Given the description of an element on the screen output the (x, y) to click on. 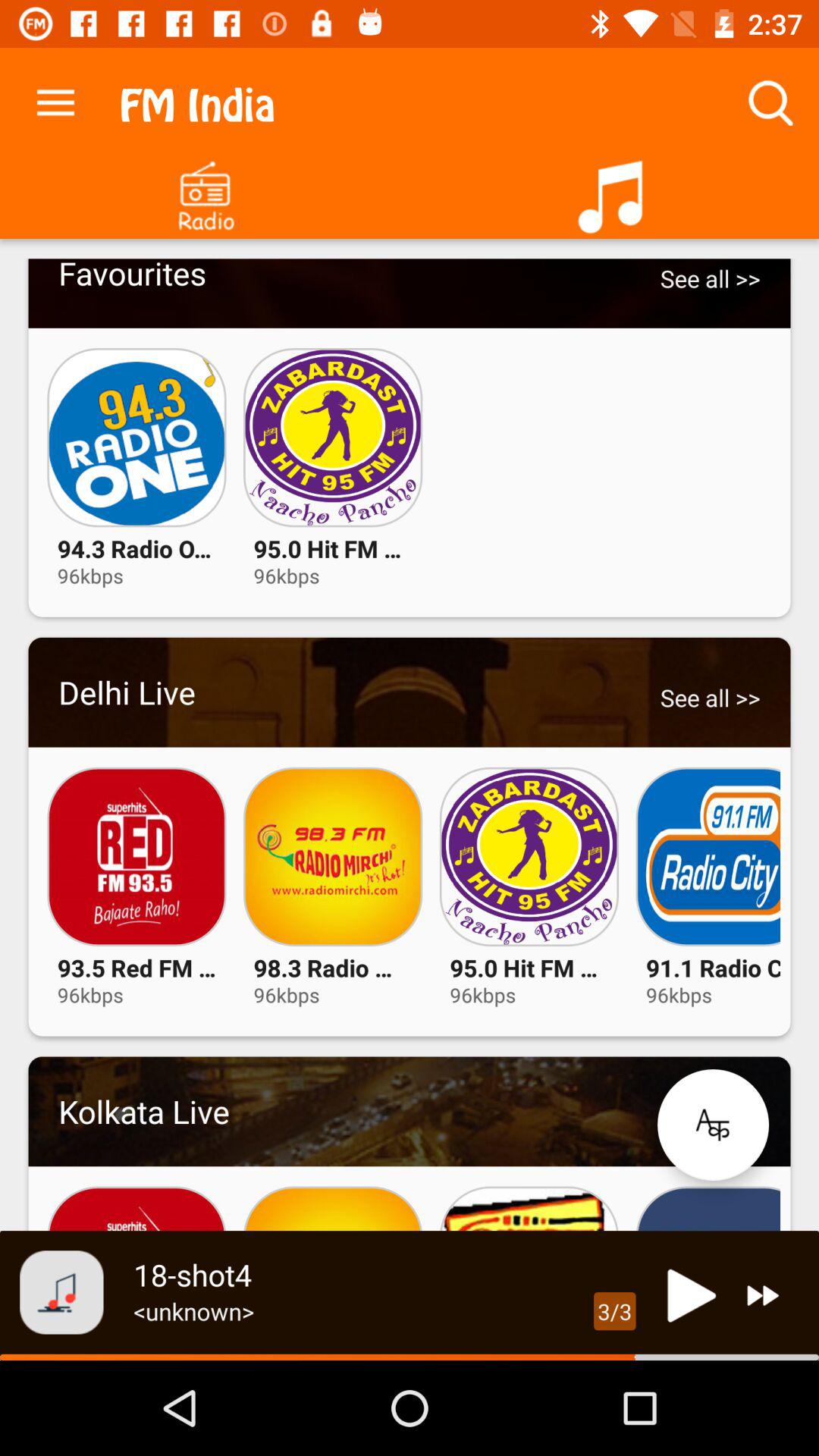
next song (763, 1295)
